Given the description of an element on the screen output the (x, y) to click on. 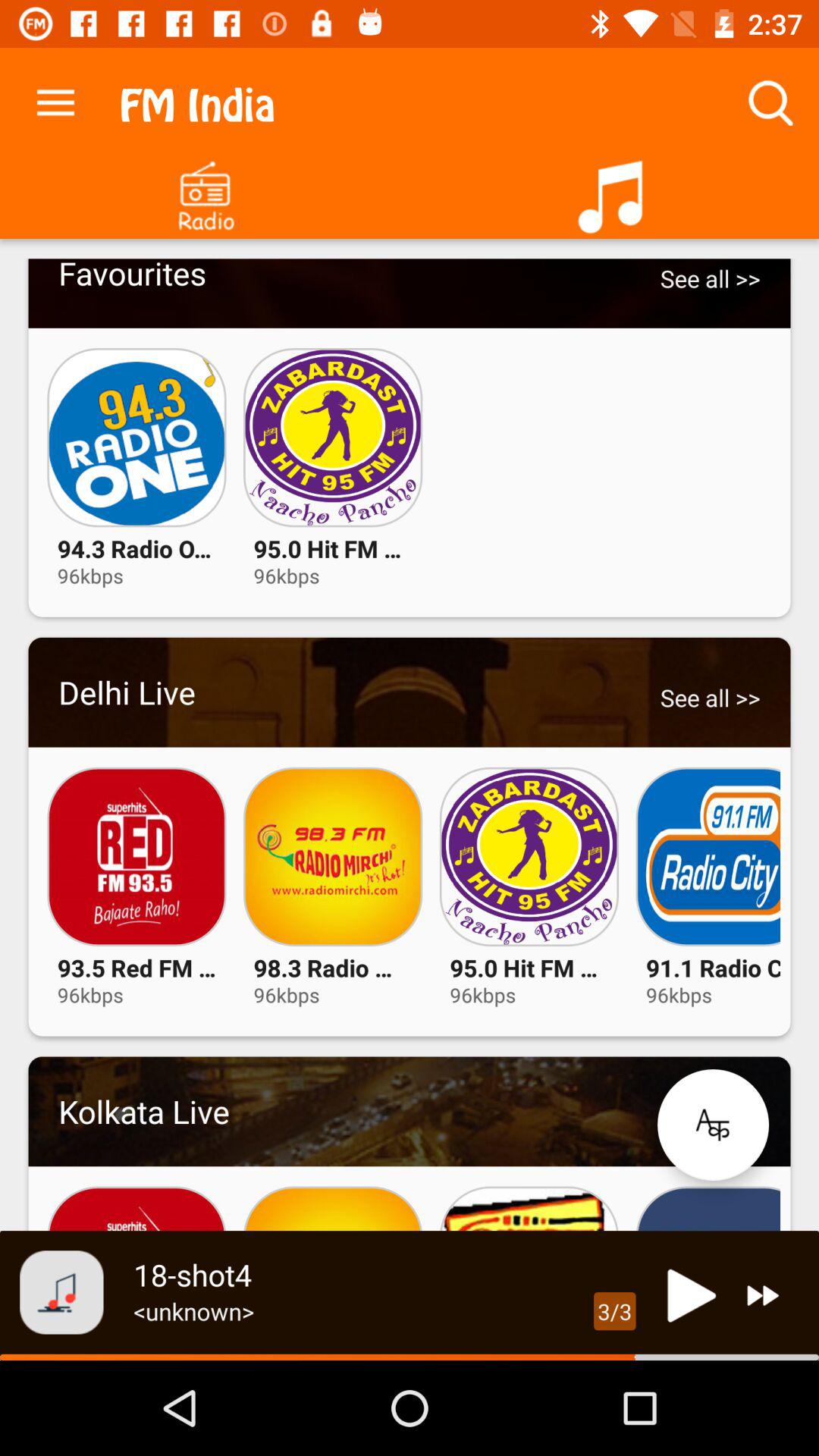
next song (763, 1295)
